Given the description of an element on the screen output the (x, y) to click on. 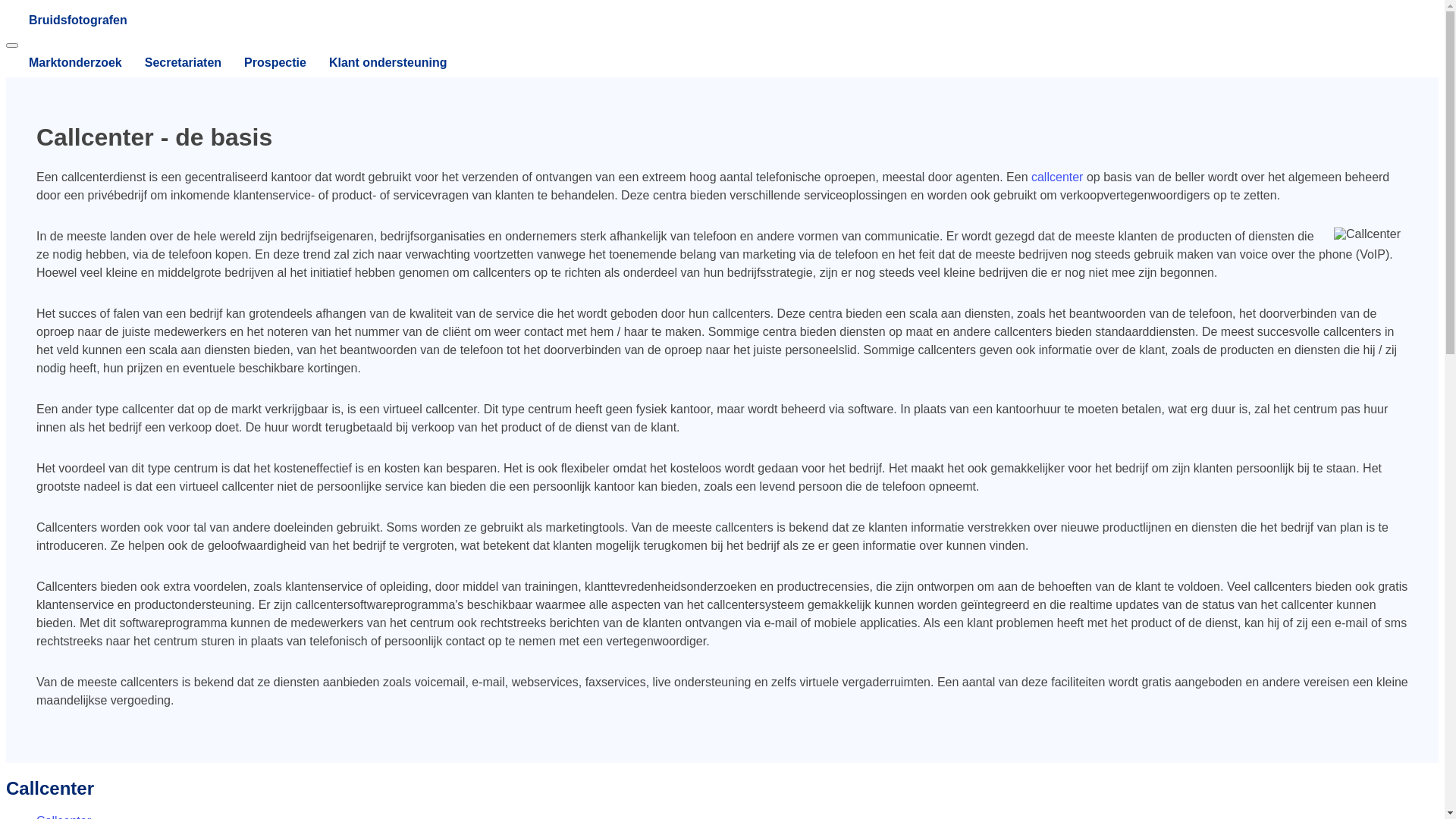
callcenter Element type: text (1056, 176)
Marktonderzoek Element type: text (64, 62)
Klant ondersteuning Element type: text (376, 62)
Secretariaten Element type: text (171, 62)
Prospectie Element type: text (263, 62)
Bruidsfotografen Element type: text (722, 20)
